Given the description of an element on the screen output the (x, y) to click on. 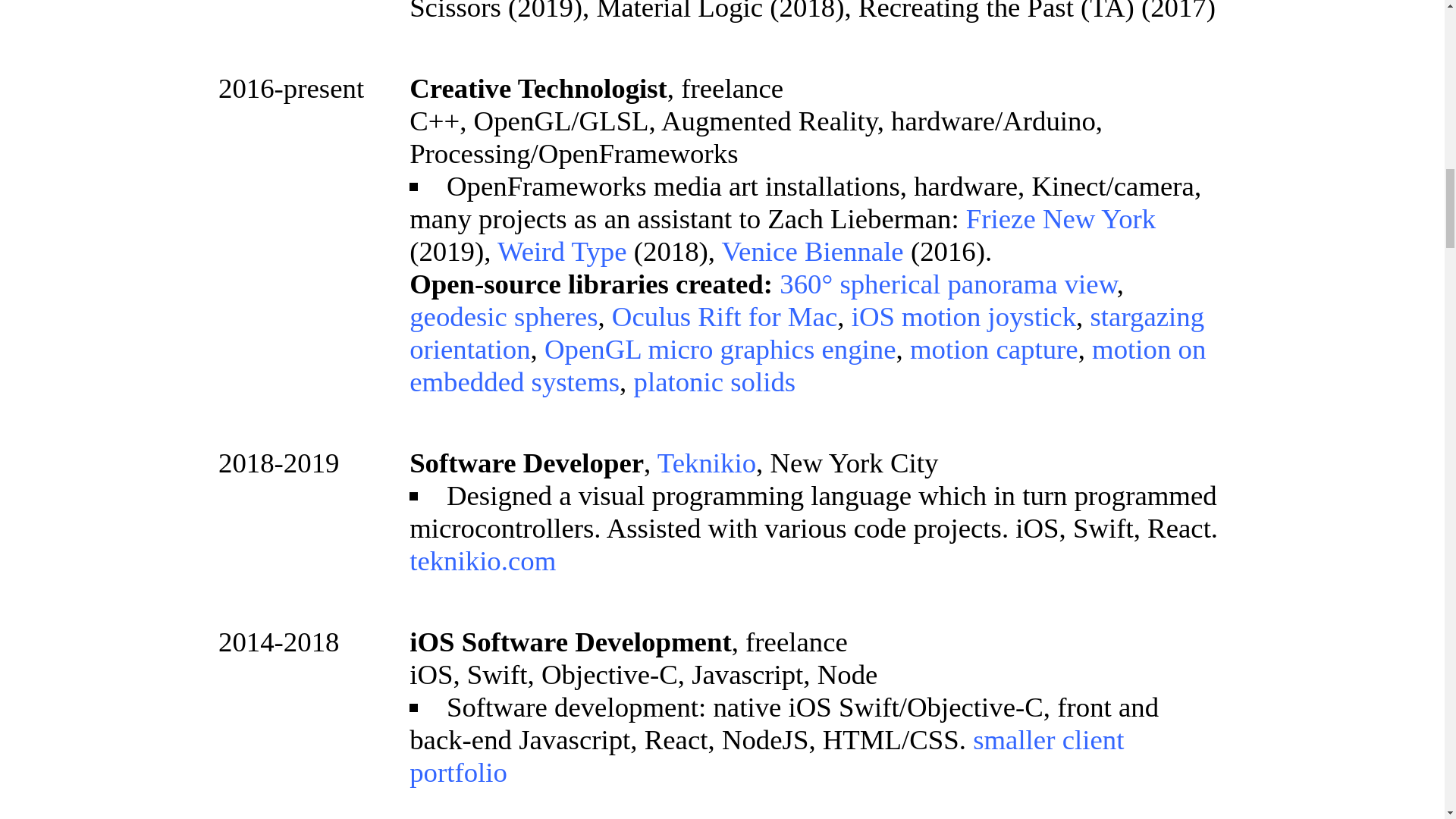
OpenGL micro graphics engine (720, 348)
Weird Type (562, 250)
Teknikio (706, 462)
Oculus Rift for Mac (724, 316)
Venice Biennale (813, 250)
platonic solids (714, 381)
geodesic spheres (502, 316)
teknikio.com (482, 560)
